Given the description of an element on the screen output the (x, y) to click on. 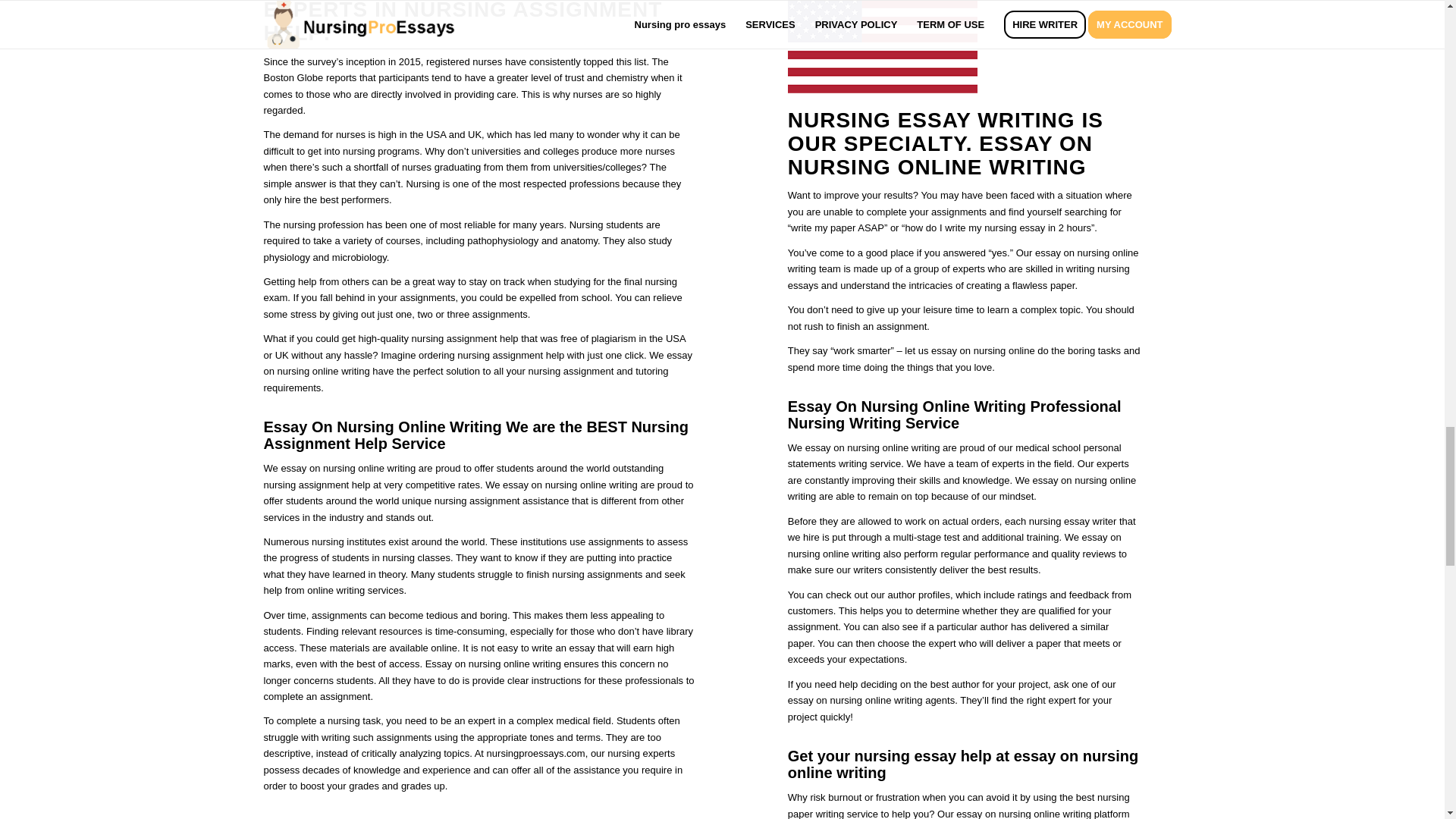
Essay On Nursing (328, 426)
NURSING ASSIGNMENT HELP (462, 22)
